Given the description of an element on the screen output the (x, y) to click on. 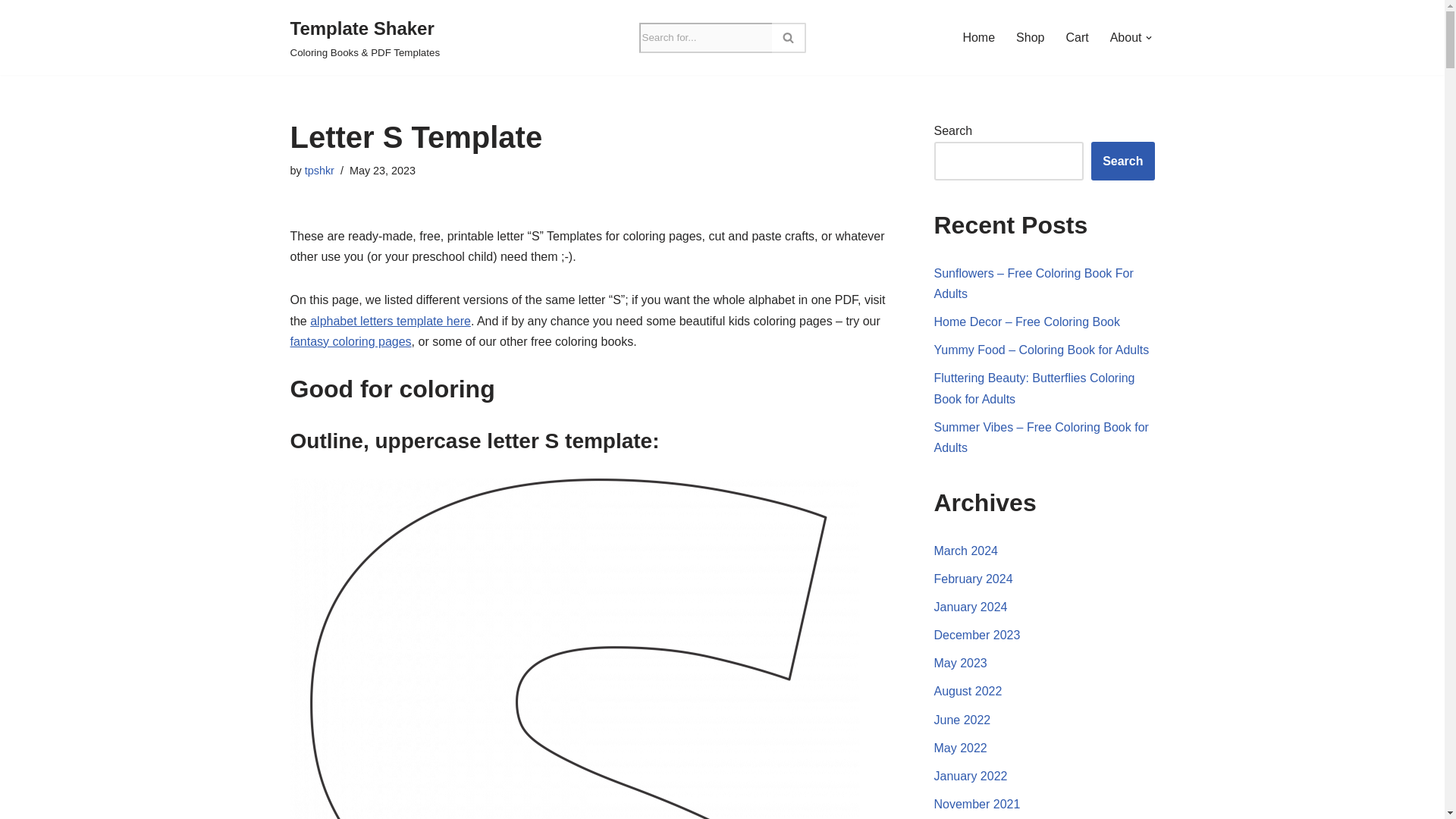
fantasy coloring pages (349, 341)
About (1125, 37)
Posts by tpshkr (319, 170)
Skip to content (11, 31)
Fluttering Beauty: Butterflies Coloring Book for Adults (1034, 387)
March 2024 (966, 550)
Cart (1076, 37)
tpshkr (319, 170)
alphabet letters template here (390, 319)
Shop (1029, 37)
Search (1122, 160)
Home (978, 37)
